Given the description of an element on the screen output the (x, y) to click on. 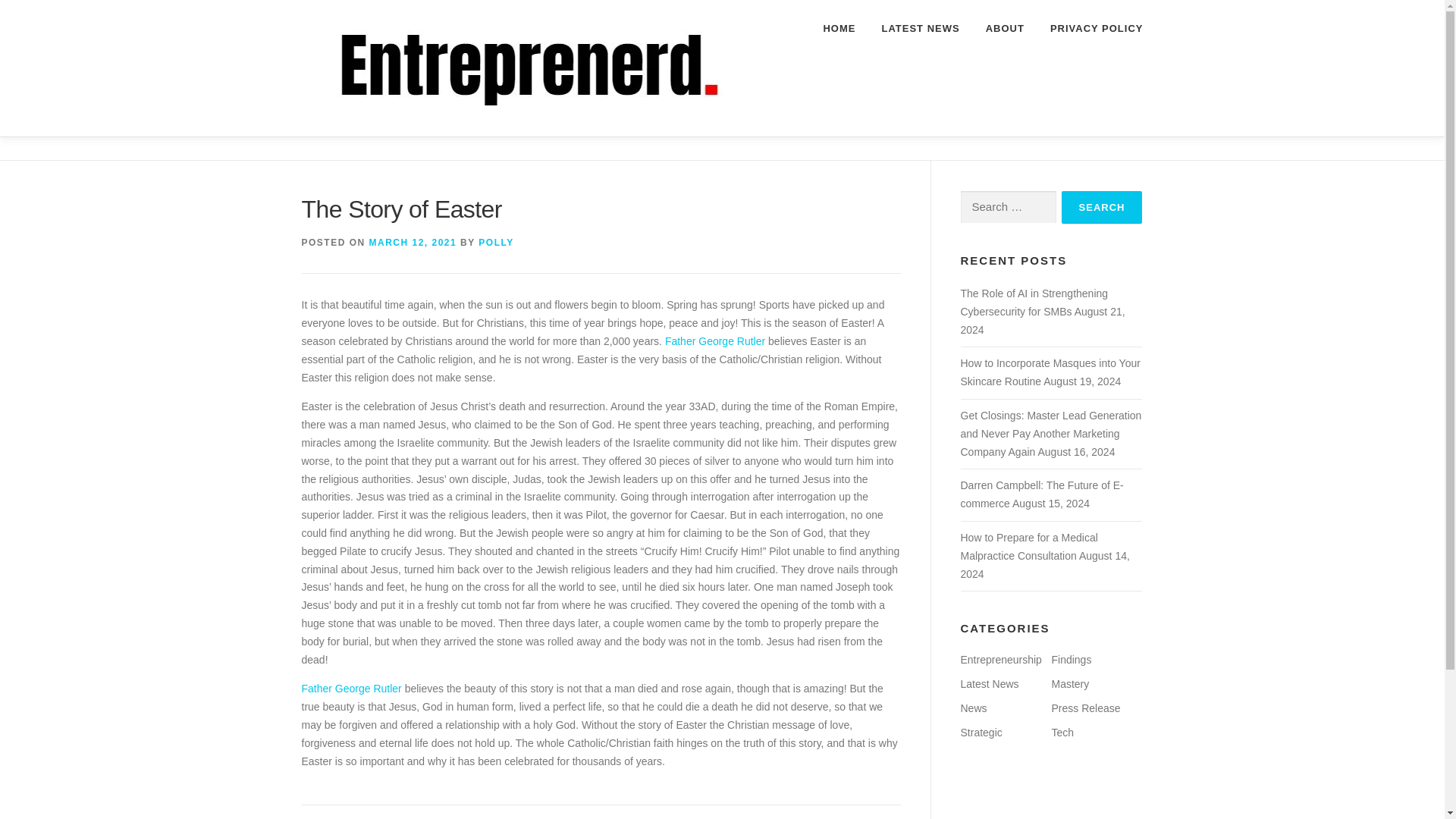
Findings (1070, 659)
HOME (838, 28)
Darren Campbell: The Future of E-commerce (1040, 494)
Father George Rutler (351, 688)
POLLY (496, 242)
How to Incorporate Masques into Your Skincare Routine (1049, 372)
Entrepreneurship (1000, 659)
Search (1101, 206)
ABOUT (1004, 28)
